Given the description of an element on the screen output the (x, y) to click on. 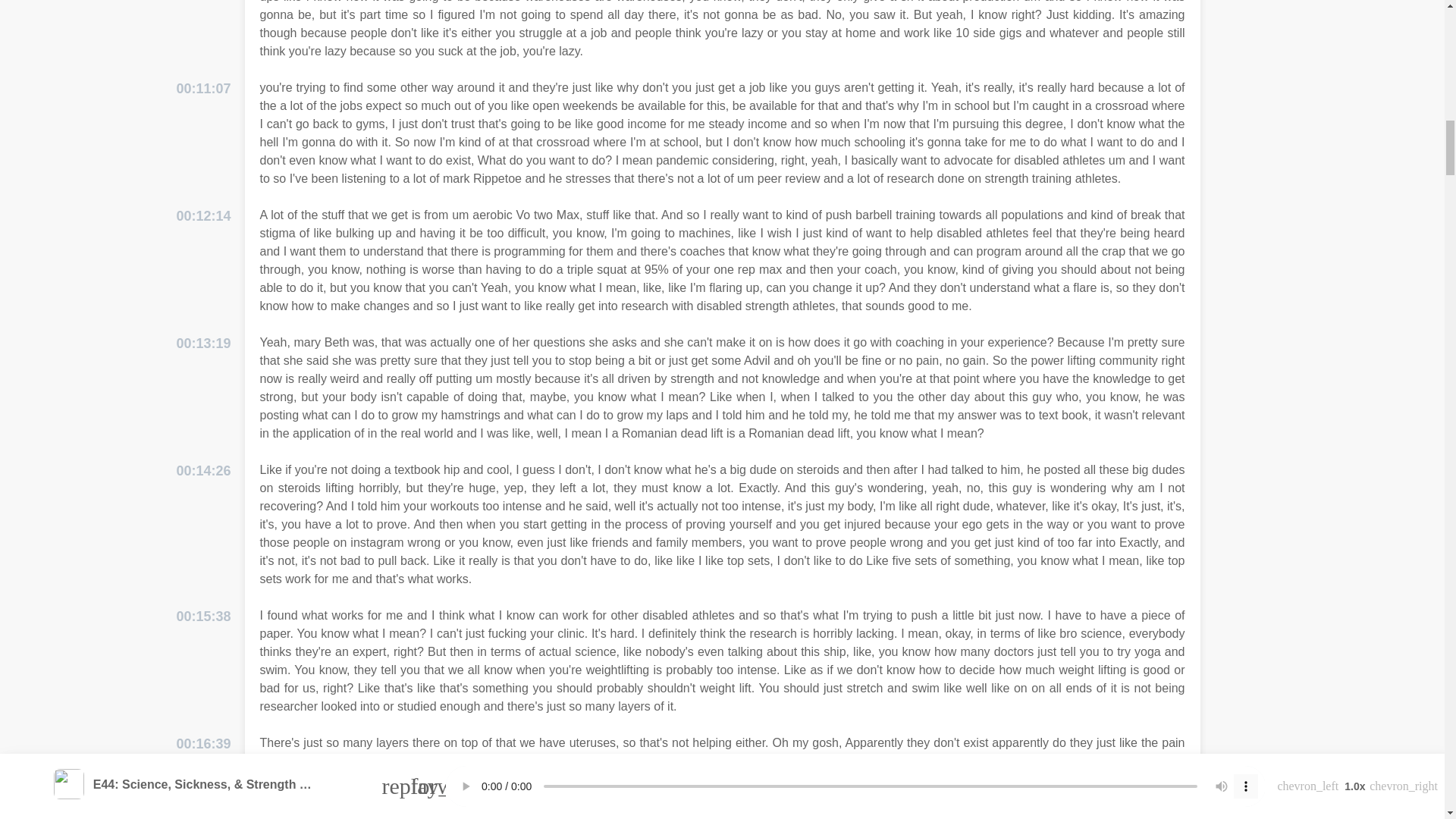
00:12:14 (203, 216)
00:11:07 (203, 88)
00:14:26 (203, 471)
00:16:39 (203, 743)
00:13:19 (203, 343)
00:15:38 (203, 616)
